Given the description of an element on the screen output the (x, y) to click on. 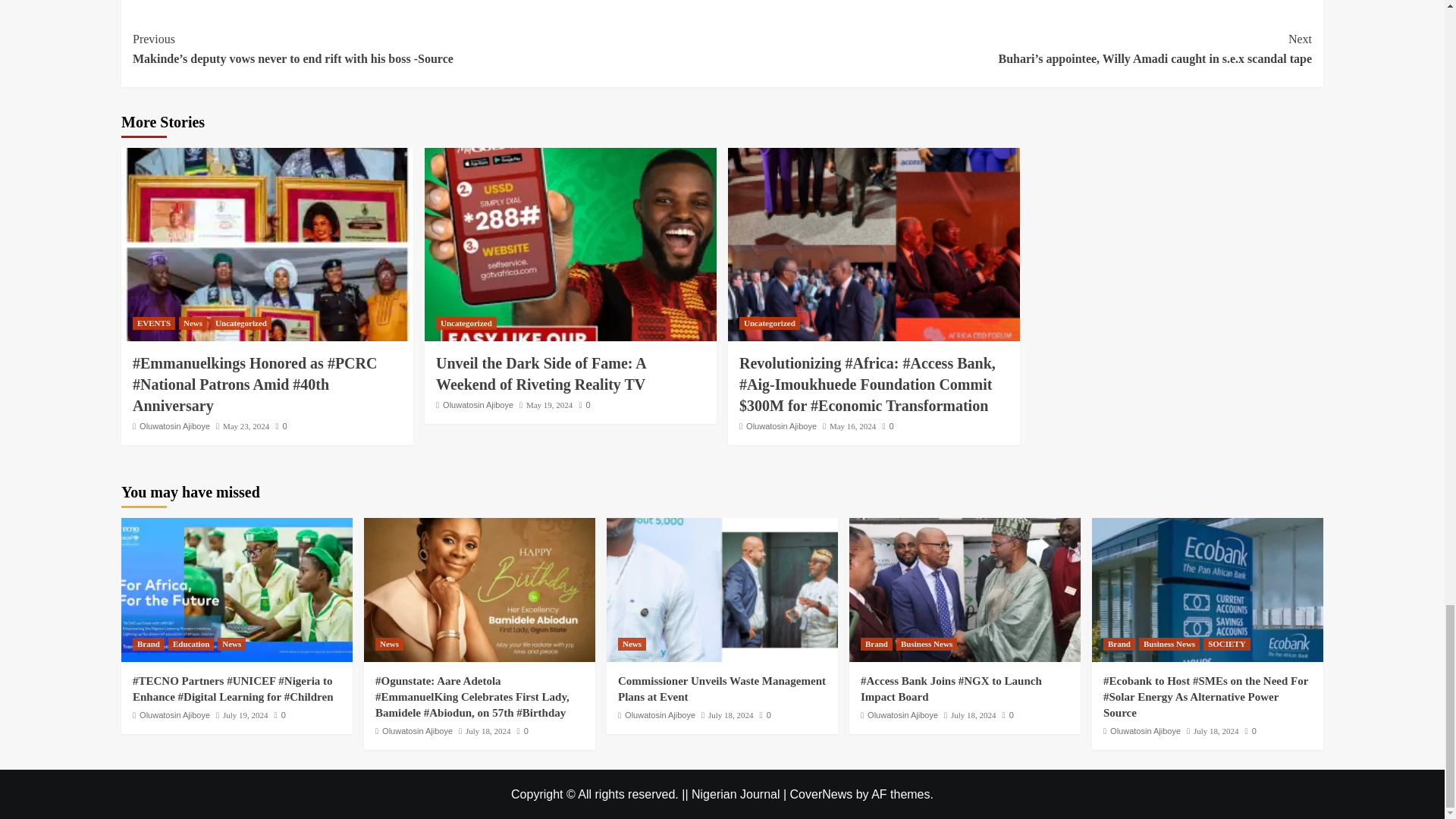
May 23, 2024 (245, 425)
Oluwatosin Ajiboye (174, 425)
Oluwatosin Ajiboye (477, 404)
Uncategorized (465, 323)
News (192, 323)
EVENTS (153, 323)
Uncategorized (240, 323)
May 19, 2024 (548, 404)
0 (583, 404)
0 (280, 425)
